Given the description of an element on the screen output the (x, y) to click on. 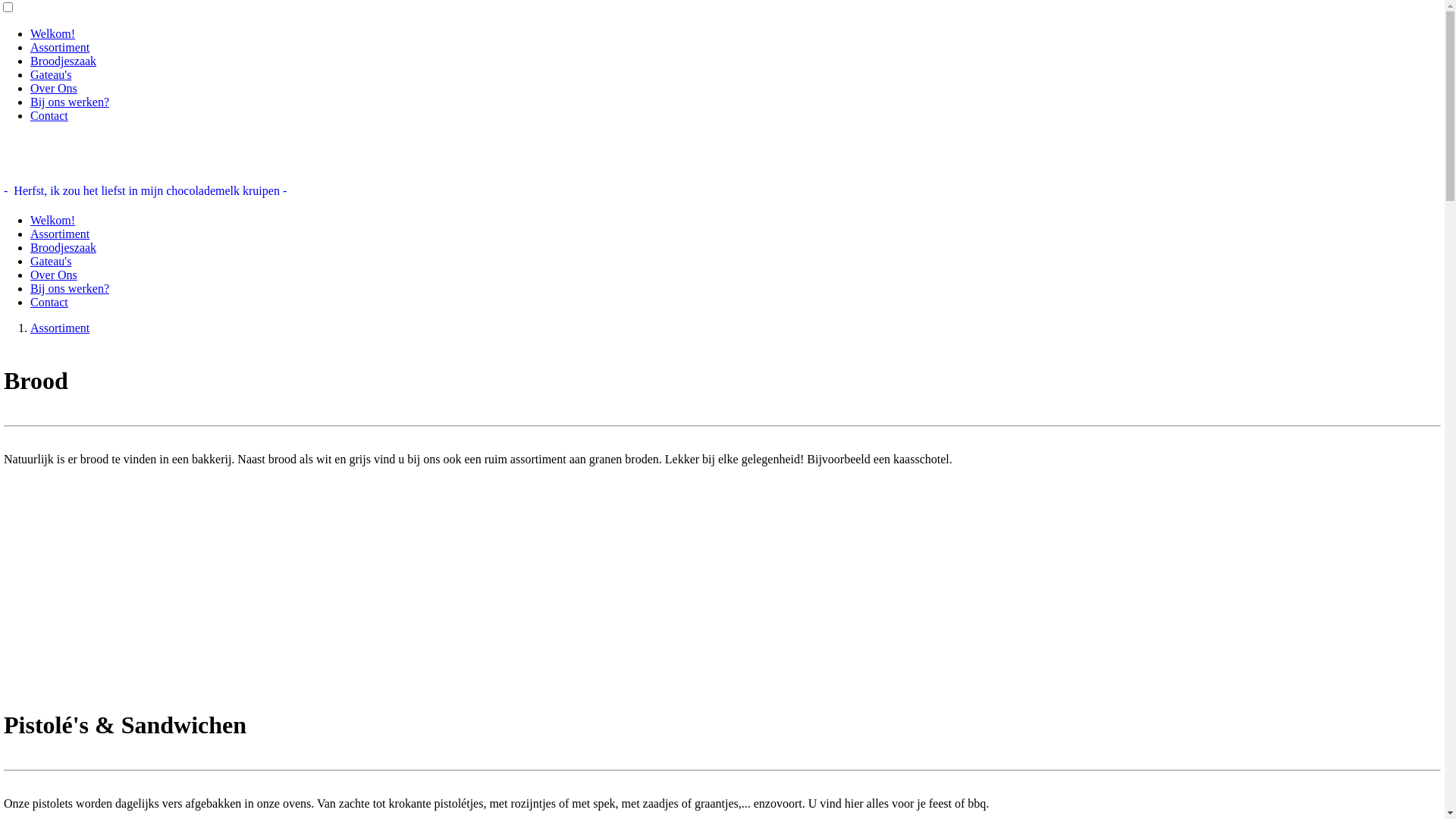
-  Herfst, ik zou het liefst in mijn chocolademelk kruipen - Element type: text (144, 190)
Bij ons werken? Element type: text (69, 288)
Broodjeszaak Element type: text (63, 247)
Over Ons Element type: text (53, 274)
Gateau's Element type: text (50, 74)
Assortiment Element type: text (59, 327)
Contact Element type: text (49, 115)
Contact Element type: text (49, 301)
Welkom! Element type: text (52, 219)
Broodjeszaak Element type: text (63, 60)
Welkom! Element type: text (52, 33)
Gateau's Element type: text (50, 260)
Over Ons Element type: text (53, 87)
Assortiment Element type: text (59, 46)
Bij ons werken? Element type: text (69, 101)
Assortiment Element type: text (59, 233)
